Given the description of an element on the screen output the (x, y) to click on. 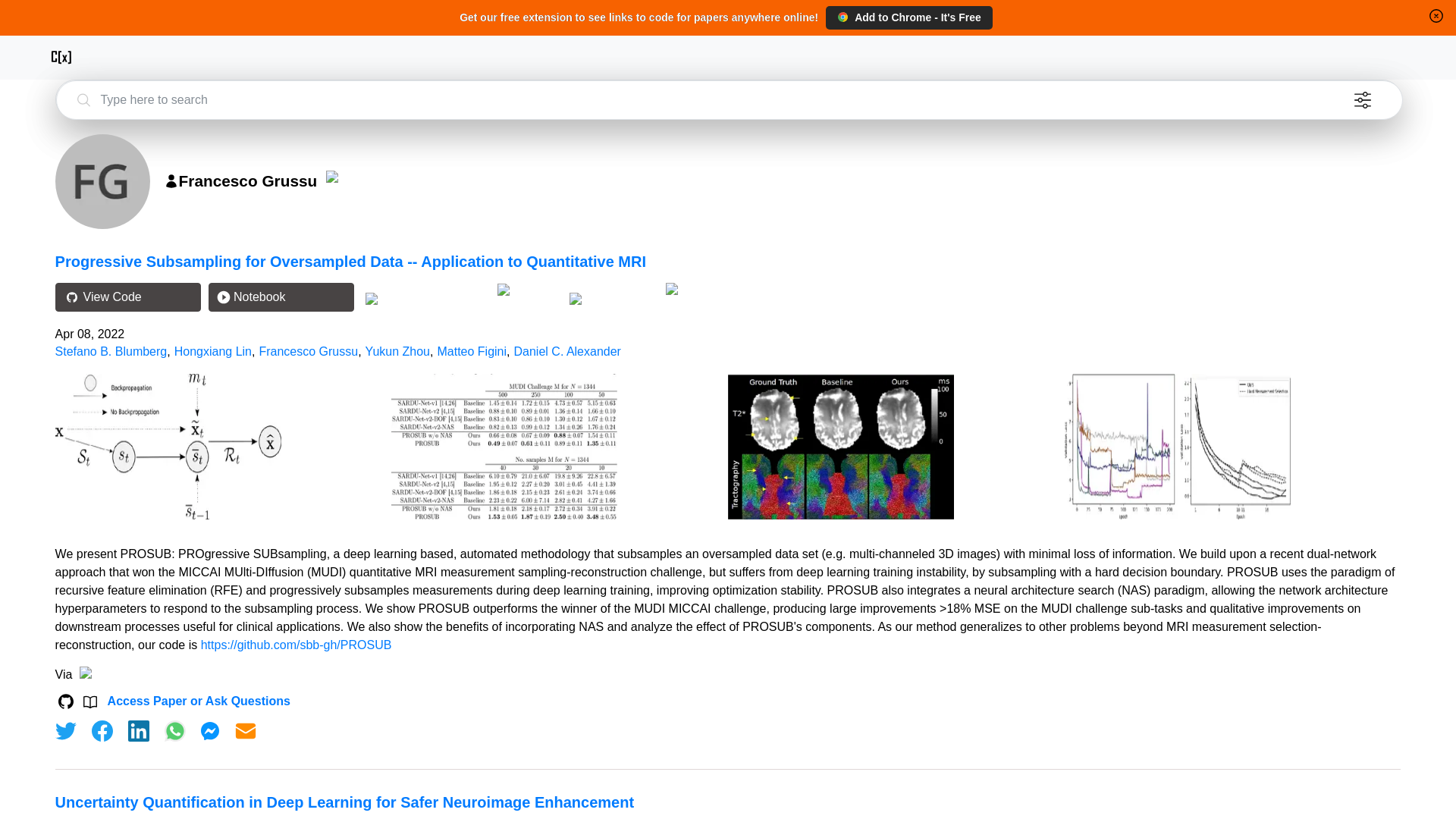
Add to Chrome - It's Free (908, 17)
Contribute your code for this paper to the community (528, 289)
Daniel C. Alexander (567, 350)
View Code (127, 297)
Bookmark this paper (612, 296)
Share via Email (245, 730)
Hongxiang Lin (212, 350)
Yukun Zhou (397, 350)
Stefano B. Blumberg (111, 350)
Notebook (280, 297)
Access Paper or Ask Questions (198, 701)
Matteo Figini (471, 350)
Francesco Grussu (308, 350)
